Given the description of an element on the screen output the (x, y) to click on. 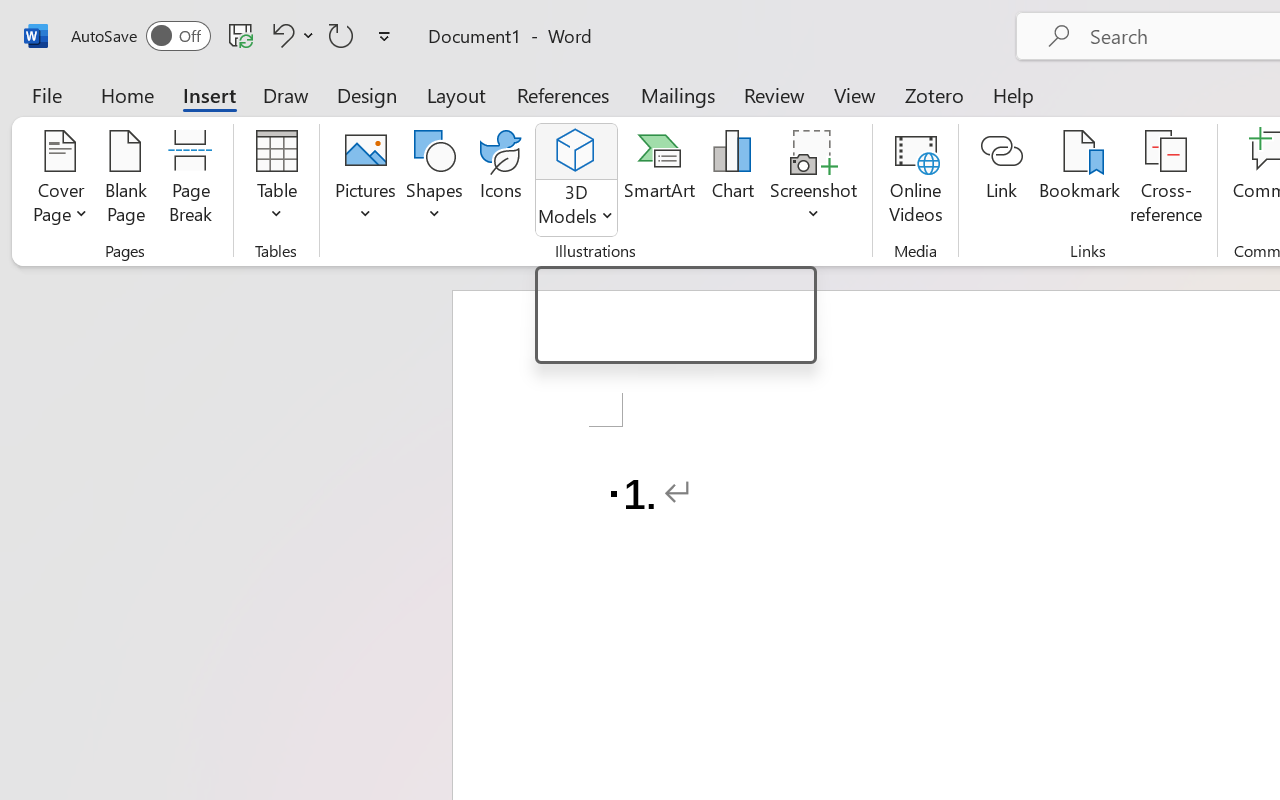
Icons (500, 179)
Bookmark... (1079, 179)
Online Videos... (915, 179)
Undo Number Default (280, 35)
